Given the description of an element on the screen output the (x, y) to click on. 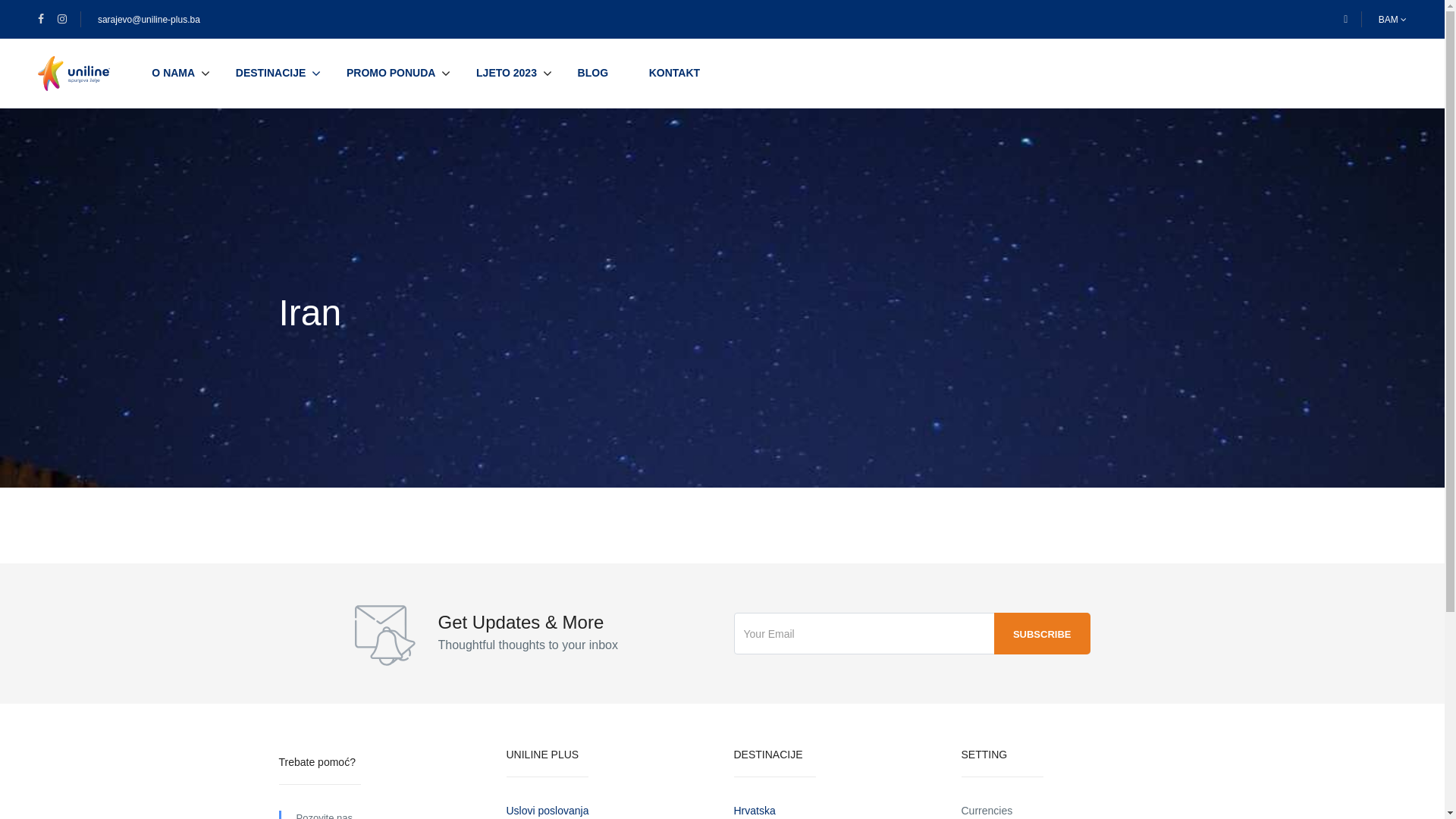
sarajevo@uniline-plus.ba Element type: text (148, 19)
BLOG Element type: text (592, 72)
Subscribe Element type: text (1042, 633)
DESTINACIJE Element type: text (270, 72)
PROMO PONUDA Element type: text (390, 72)
LJETO 2023 Element type: text (506, 72)
KONTAKT Element type: text (674, 72)
BAM Element type: text (1392, 19)
O NAMA Element type: text (172, 72)
